Given the description of an element on the screen output the (x, y) to click on. 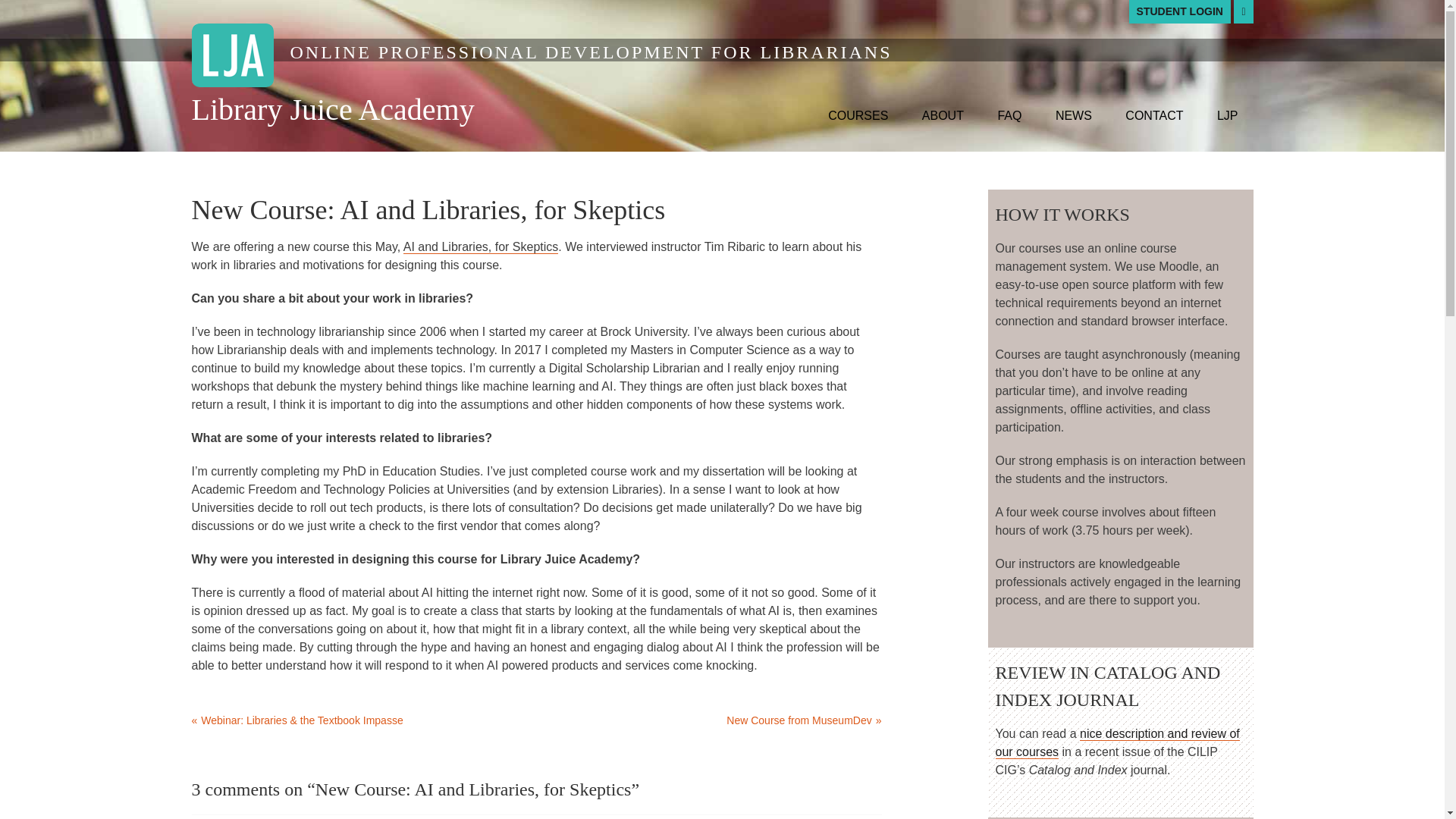
Library Juice Academy (332, 109)
CONTACT (1153, 115)
LJA (231, 54)
AI and Libraries, for Skeptics (481, 246)
COURSES (857, 115)
Cart (1242, 11)
NEWS (1073, 115)
ABOUT (942, 115)
STUDENT LOGIN (1179, 11)
New Course from MuseumDev (709, 720)
FAQ (1008, 115)
LJP (1227, 115)
